Given the description of an element on the screen output the (x, y) to click on. 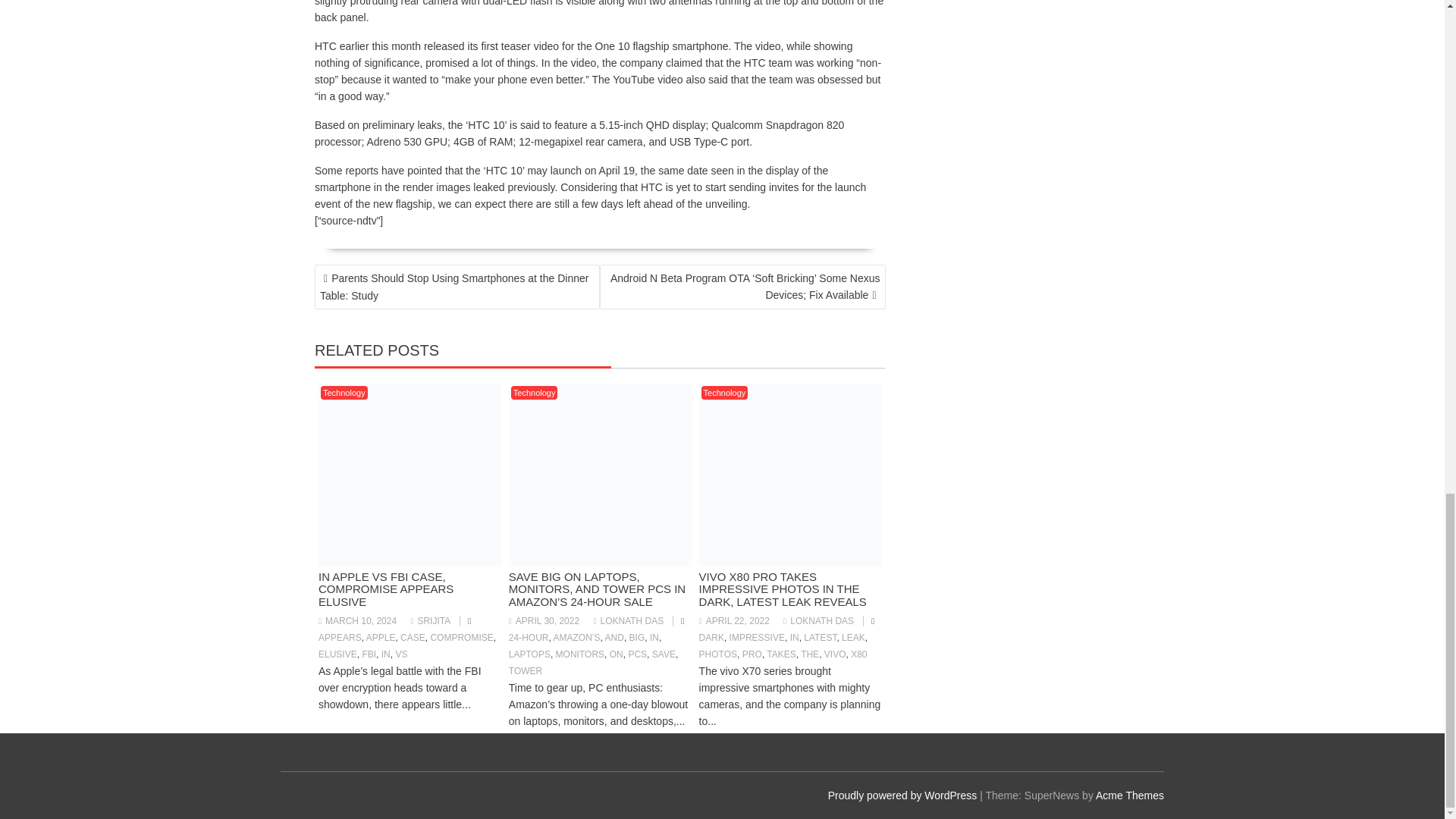
Technology (344, 392)
IN APPLE VS FBI CASE, COMPROMISE APPEARS ELUSIVE (385, 589)
